Given the description of an element on the screen output the (x, y) to click on. 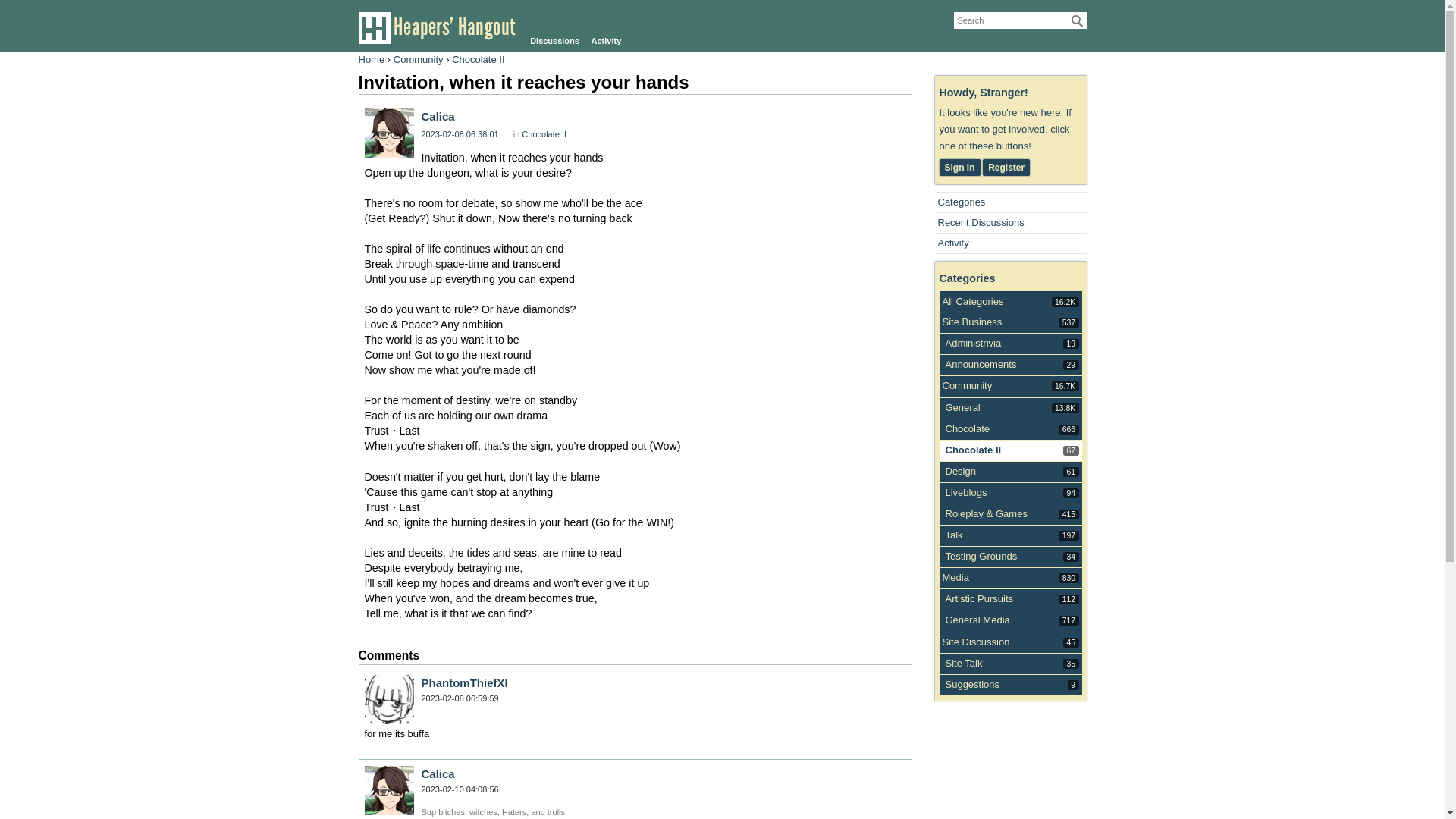
67 discussions (971, 321)
13,768 discussions (1071, 450)
34 discussions (1064, 407)
Go (1071, 556)
2023-02-08 06:38:01 (1076, 21)
Register (460, 133)
16,231 discussions (1005, 167)
Calica (1064, 302)
Go (438, 115)
Home (1076, 21)
94 discussions (966, 385)
197 discussions (371, 59)
Recent Discussions (1071, 492)
